Given the description of an element on the screen output the (x, y) to click on. 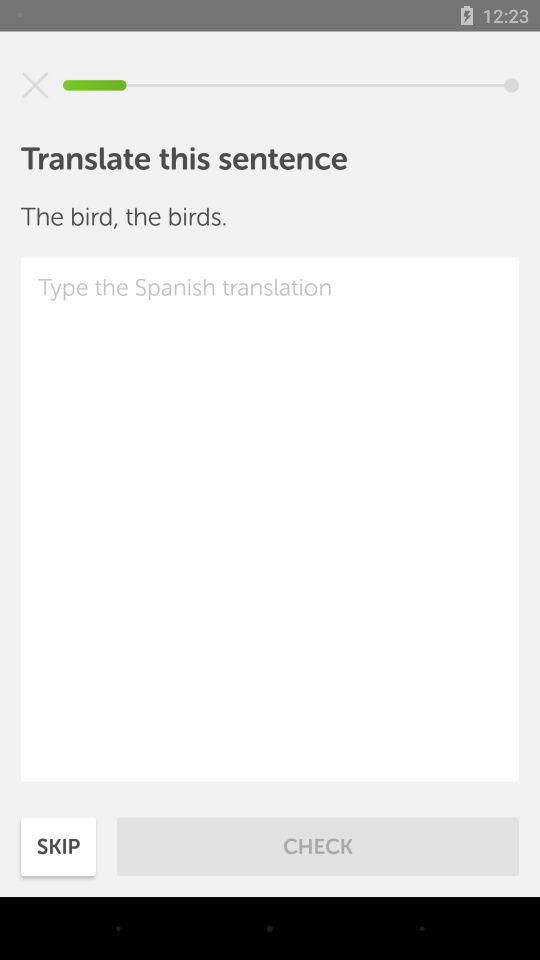
launch item above translate this sentence (35, 85)
